Given the description of an element on the screen output the (x, y) to click on. 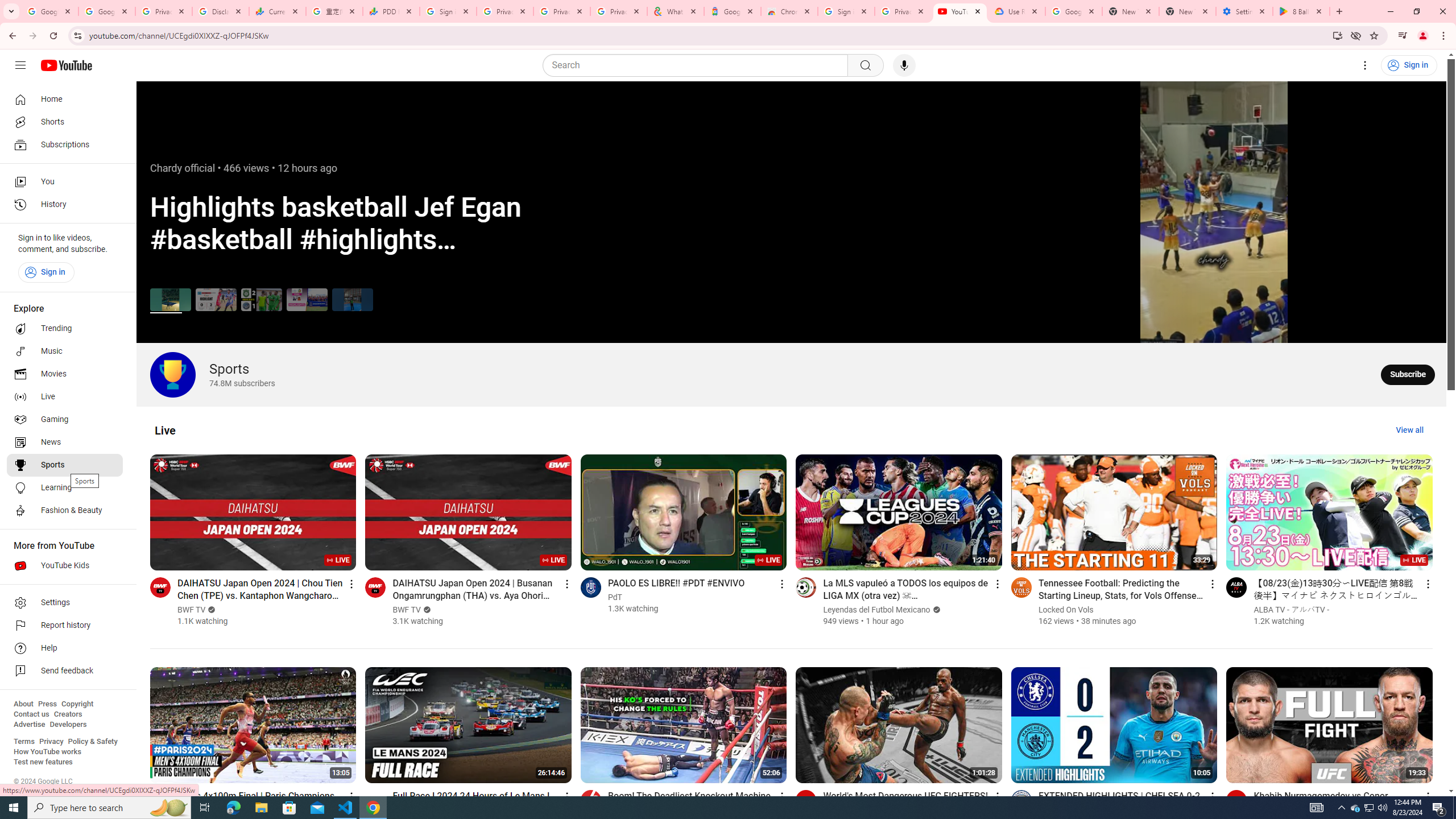
Sports 74.8 million subscribers (212, 374)
Developers (68, 724)
Google (731, 11)
Bidanasi Club vs Sports Odisha | Match Highlights (215, 299)
New Tab (1187, 11)
Go to channel (1236, 799)
Subscriptions (64, 144)
Contact us (31, 714)
